Given the description of an element on the screen output the (x, y) to click on. 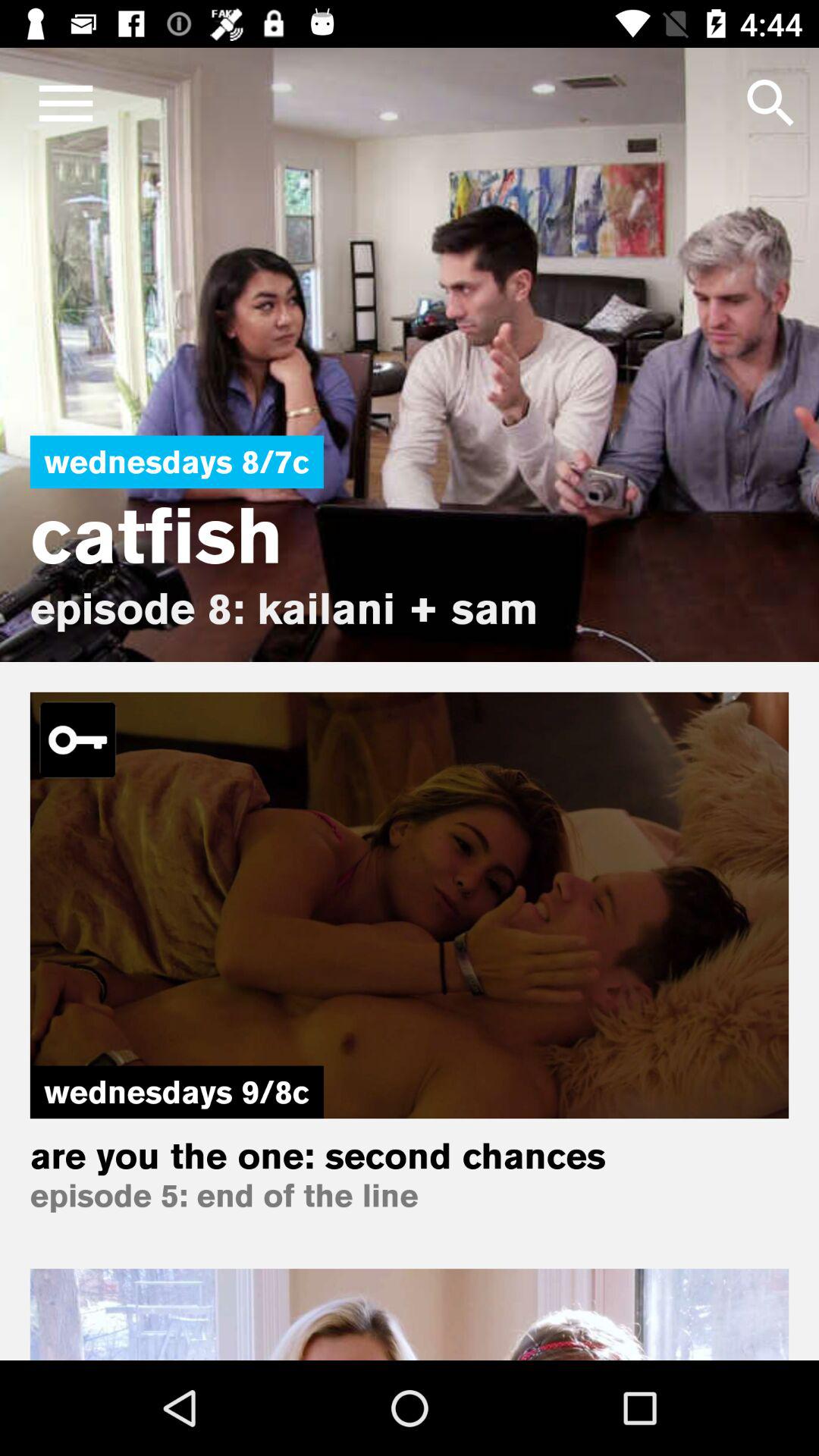
select the second image (409, 905)
select third thumbnail (409, 1313)
click on the top left icon of the second image (78, 740)
click on the search icon which is on the right top (771, 103)
